Given the description of an element on the screen output the (x, y) to click on. 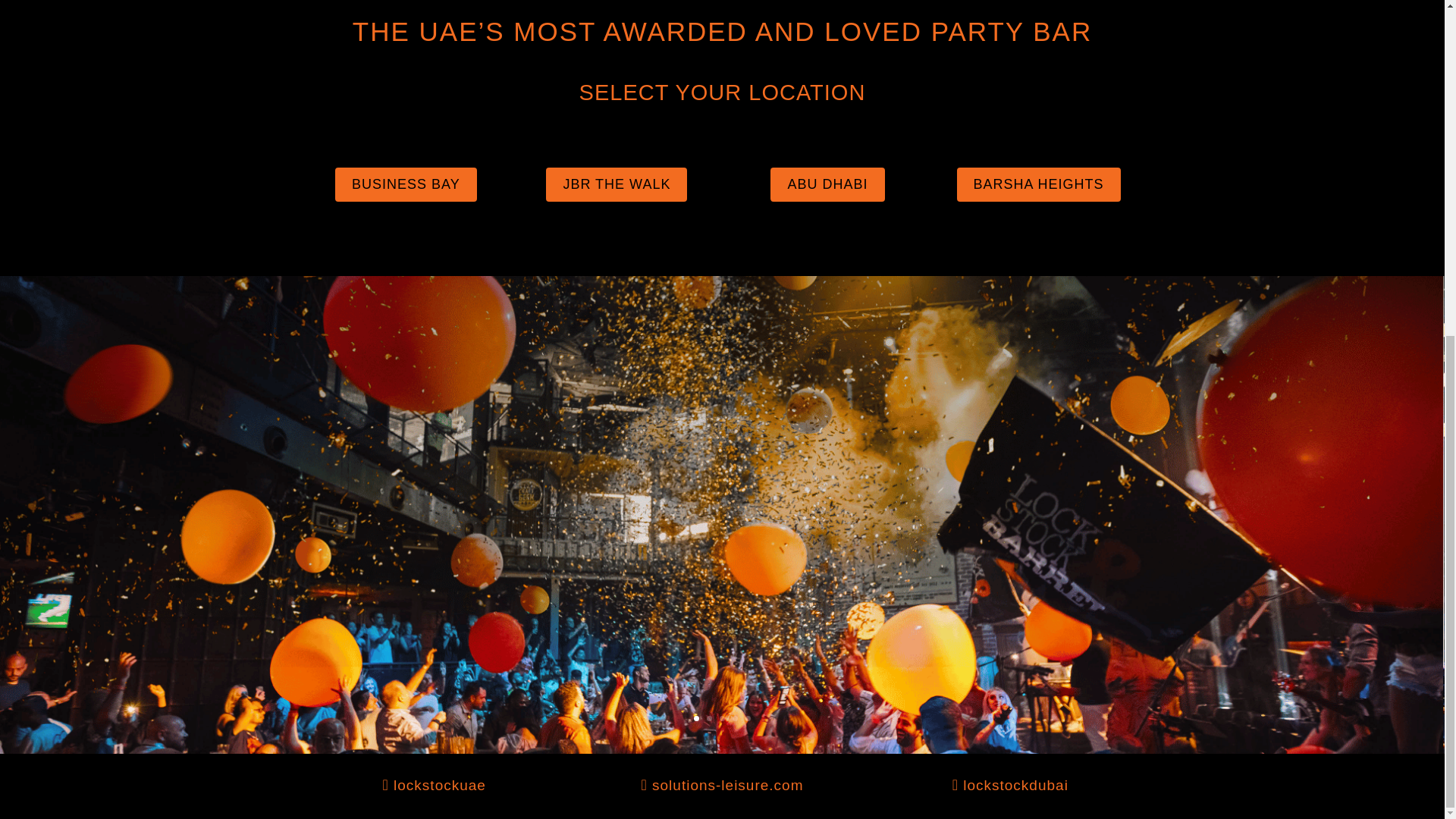
3 (722, 718)
JBR THE WALK (616, 184)
BUSINESS BAY (405, 184)
BARSHA HEIGHTS (1038, 184)
2 (708, 718)
4 (735, 718)
ABU DHABI (826, 184)
5 (748, 718)
